Given the description of an element on the screen output the (x, y) to click on. 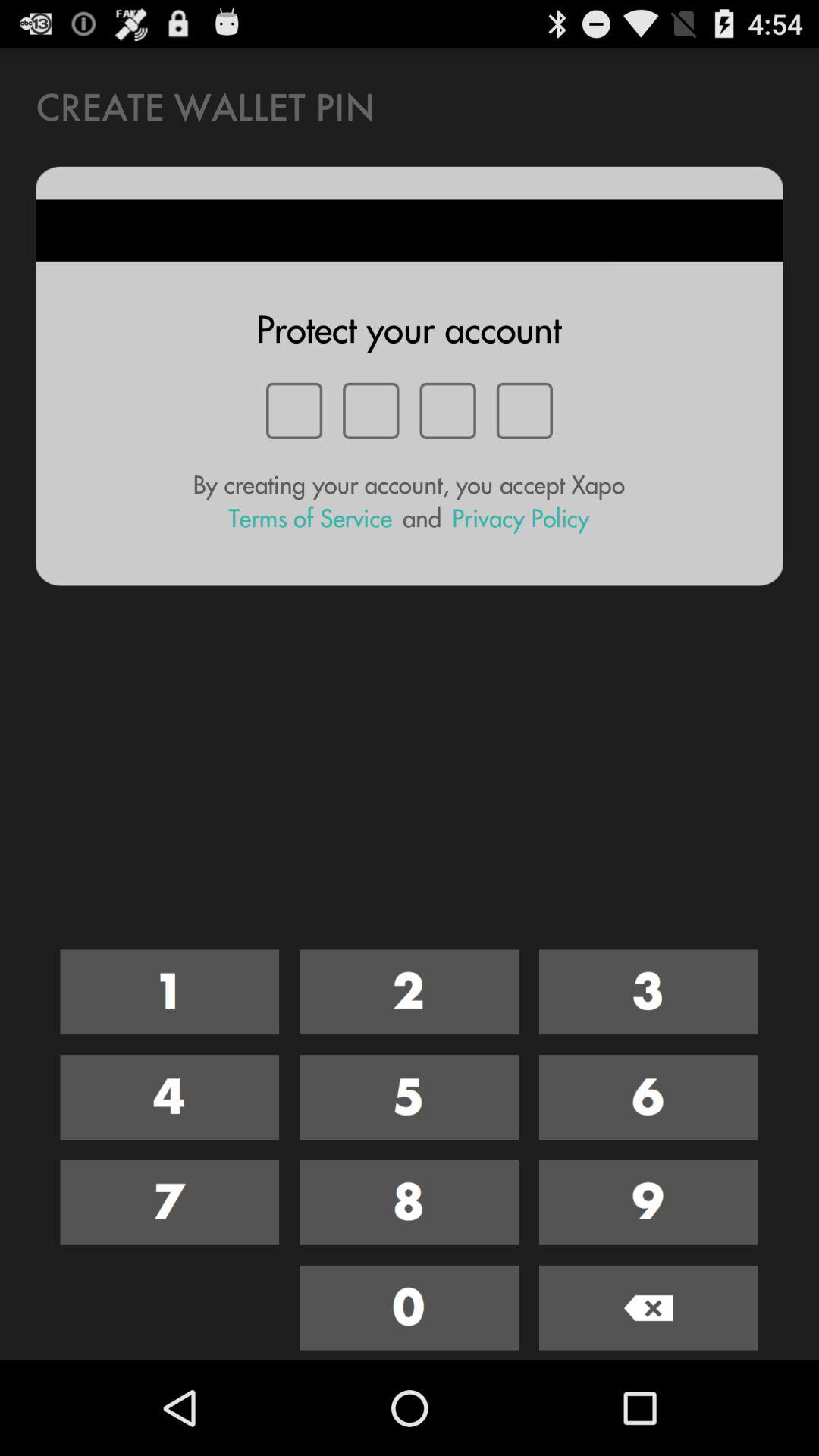
enter number two (408, 991)
